Given the description of an element on the screen output the (x, y) to click on. 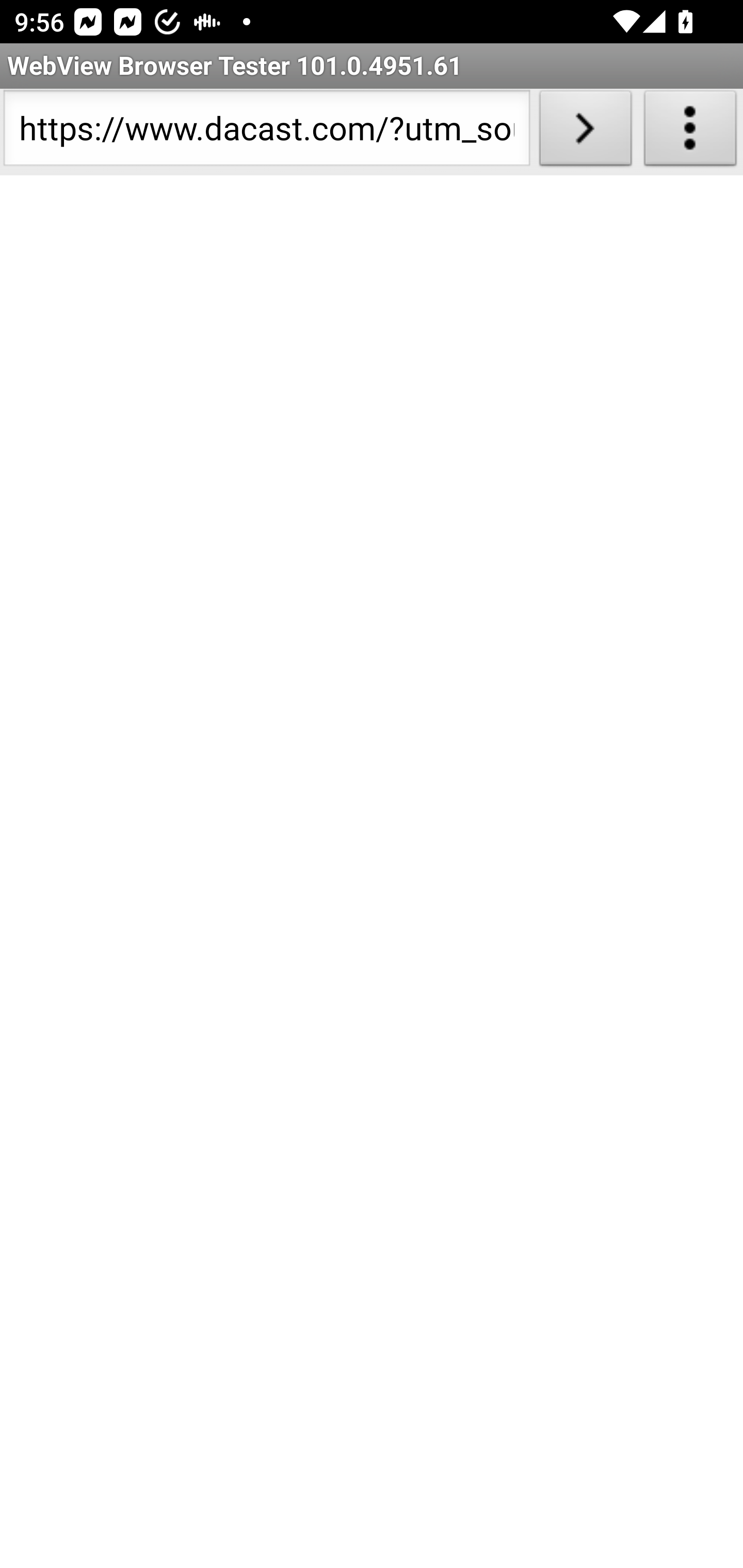
Load URL (585, 132)
About WebView (690, 132)
